Given the description of an element on the screen output the (x, y) to click on. 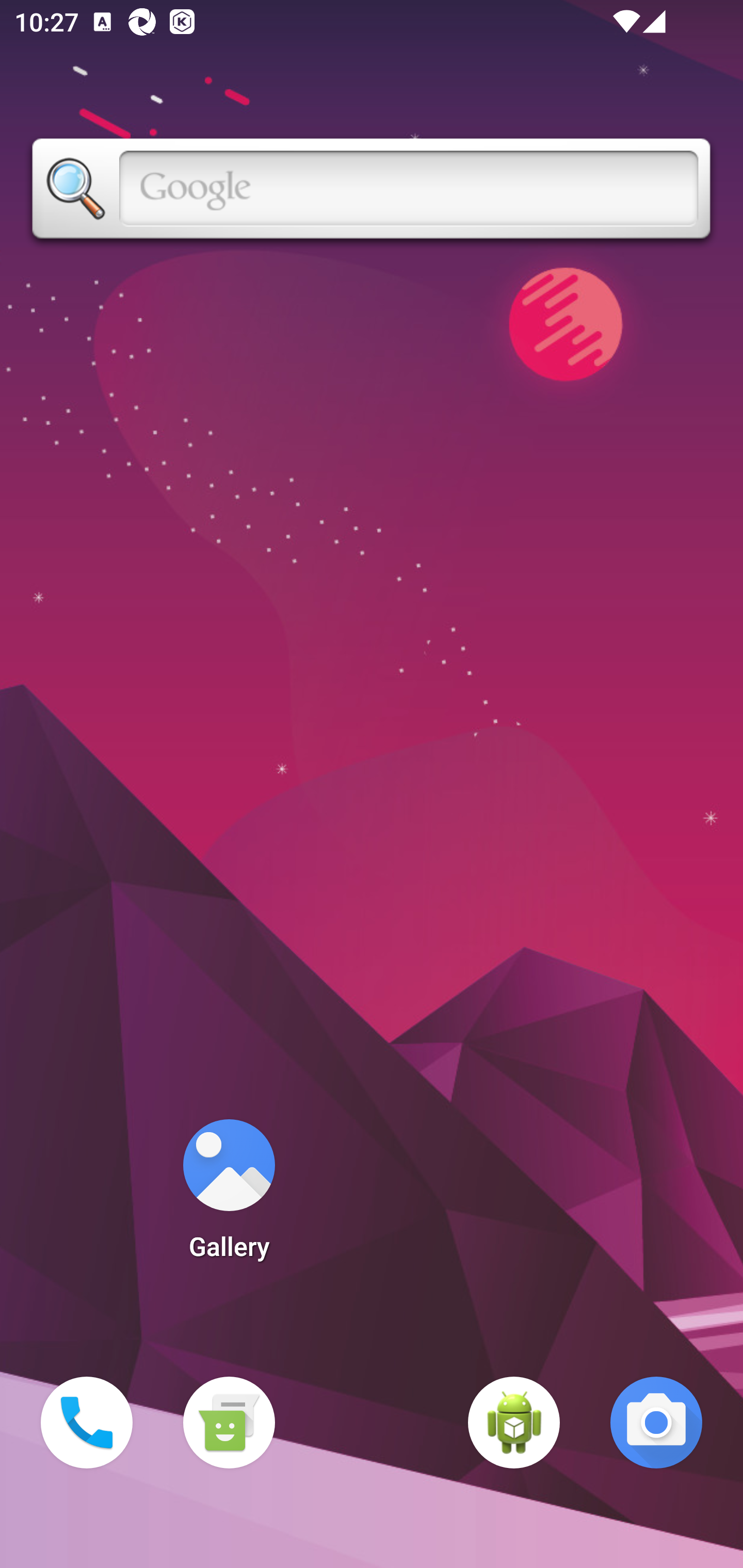
Gallery (228, 1195)
Phone (86, 1422)
Messaging (228, 1422)
WebView Browser Tester (513, 1422)
Camera (656, 1422)
